Given the description of an element on the screen output the (x, y) to click on. 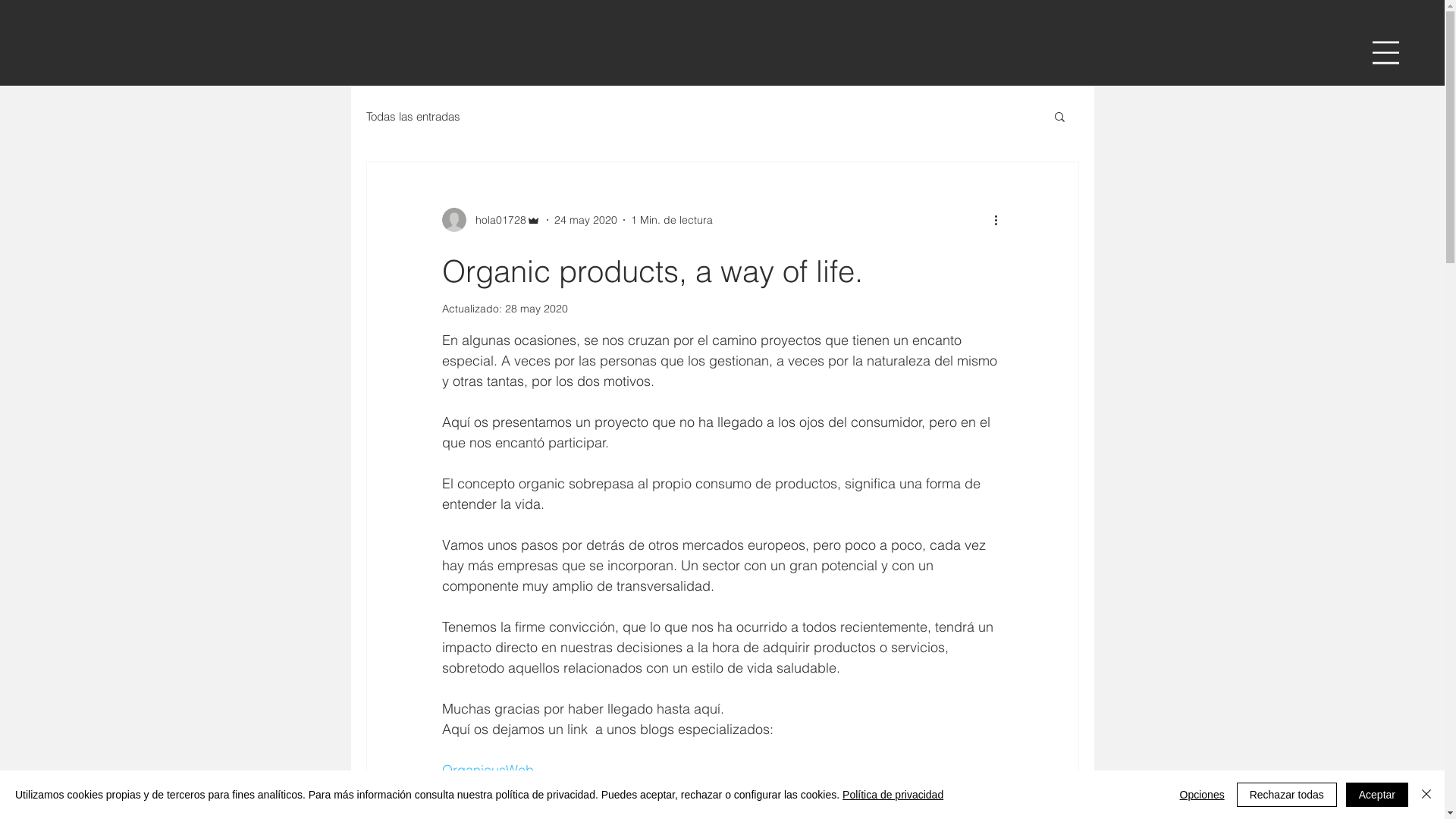
hola01728 Element type: text (490, 219)
Rechazar todas Element type: text (1286, 794)
Aceptar Element type: text (1377, 794)
Esturirafi Element type: text (467, 790)
Todas las entradas Element type: text (412, 116)
OrganicusWeb Element type: text (487, 769)
